Given the description of an element on the screen output the (x, y) to click on. 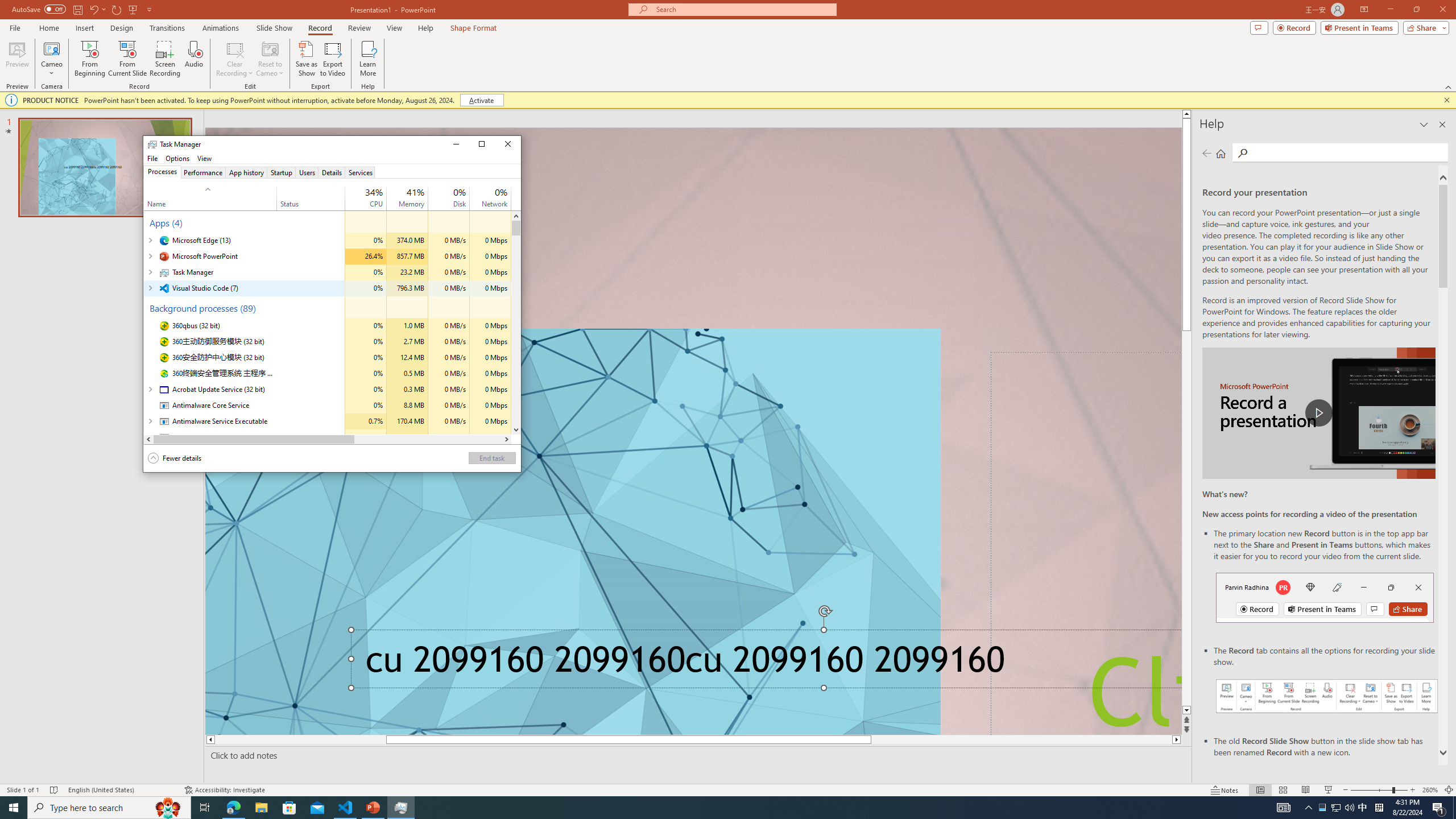
Services (360, 171)
Network (490, 437)
41% (415, 191)
Details (331, 171)
